Given the description of an element on the screen output the (x, y) to click on. 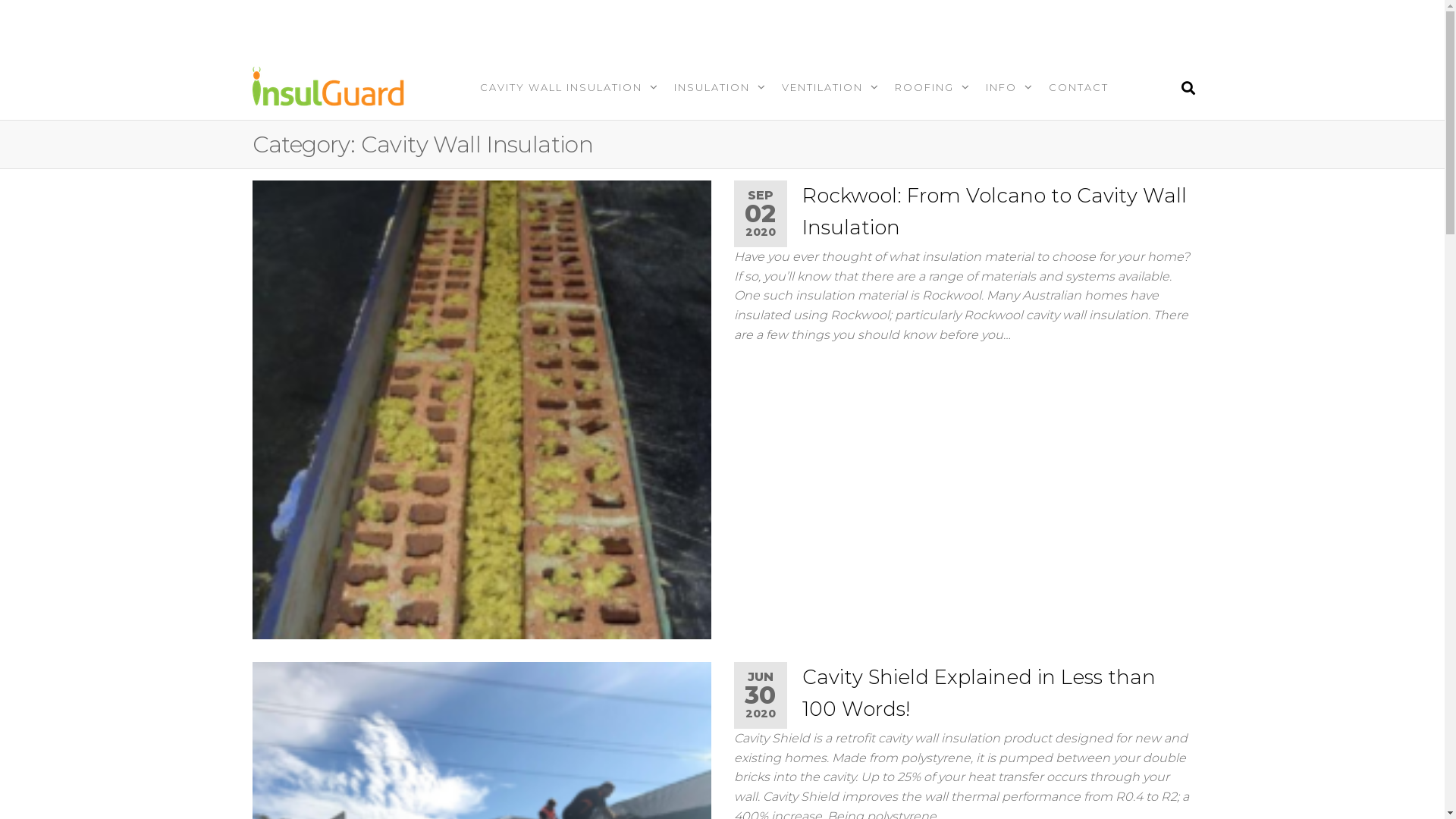
CONTACT Element type: text (1078, 86)
ROOFING Element type: text (932, 86)
VENTILATION Element type: text (830, 86)
CAVITY WALL INSULATION Element type: text (569, 86)
Cavity Shield Explained in Less than 100 Words! Element type: text (978, 693)
Rockwool: From Volcano to Cavity Wall Insulation Element type: hover (480, 408)
INFO Element type: text (1009, 86)
Rockwool: From Volcano to Cavity Wall Insulation Element type: text (994, 211)
INSULATION Element type: text (720, 86)
